Given the description of an element on the screen output the (x, y) to click on. 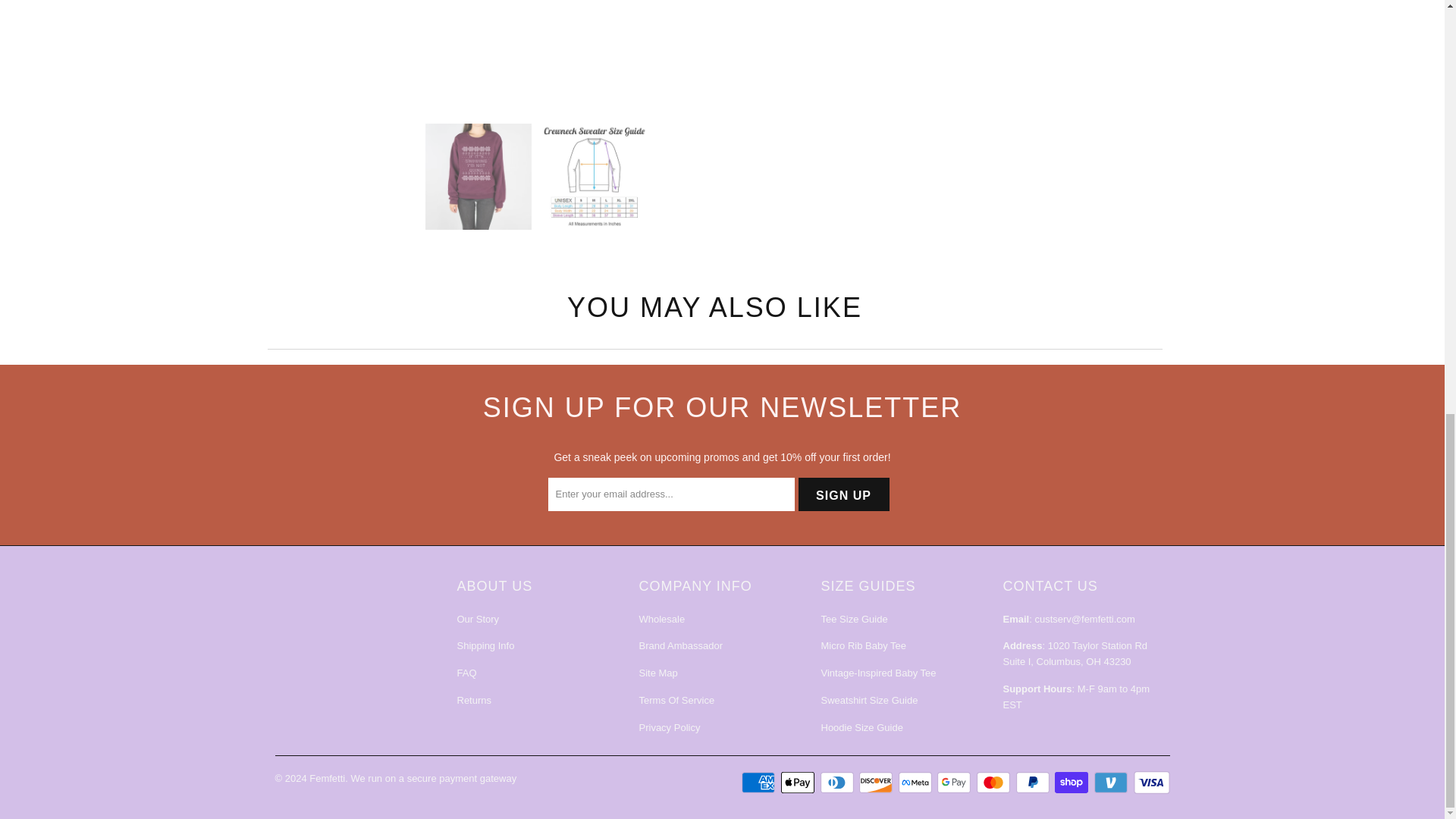
Shop Pay (1072, 782)
Meta Pay (916, 782)
Sign Up (842, 494)
Discover (877, 782)
Google Pay (955, 782)
Femfetti Contact Us (1083, 618)
Diners Club (839, 782)
PayPal (1034, 782)
Venmo (1112, 782)
American Express (759, 782)
